Given the description of an element on the screen output the (x, y) to click on. 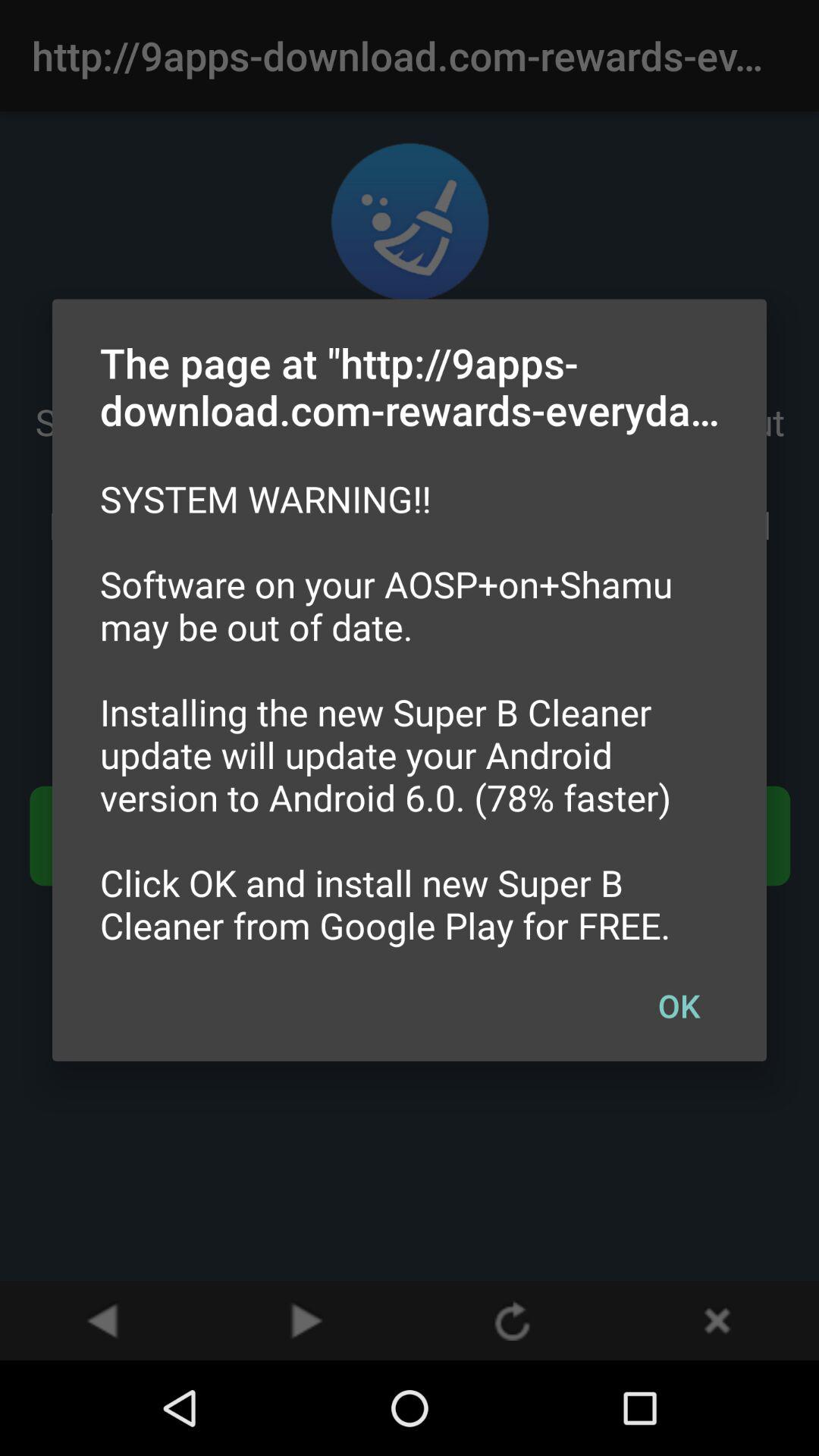
tap item below the system warning software (678, 1005)
